Given the description of an element on the screen output the (x, y) to click on. 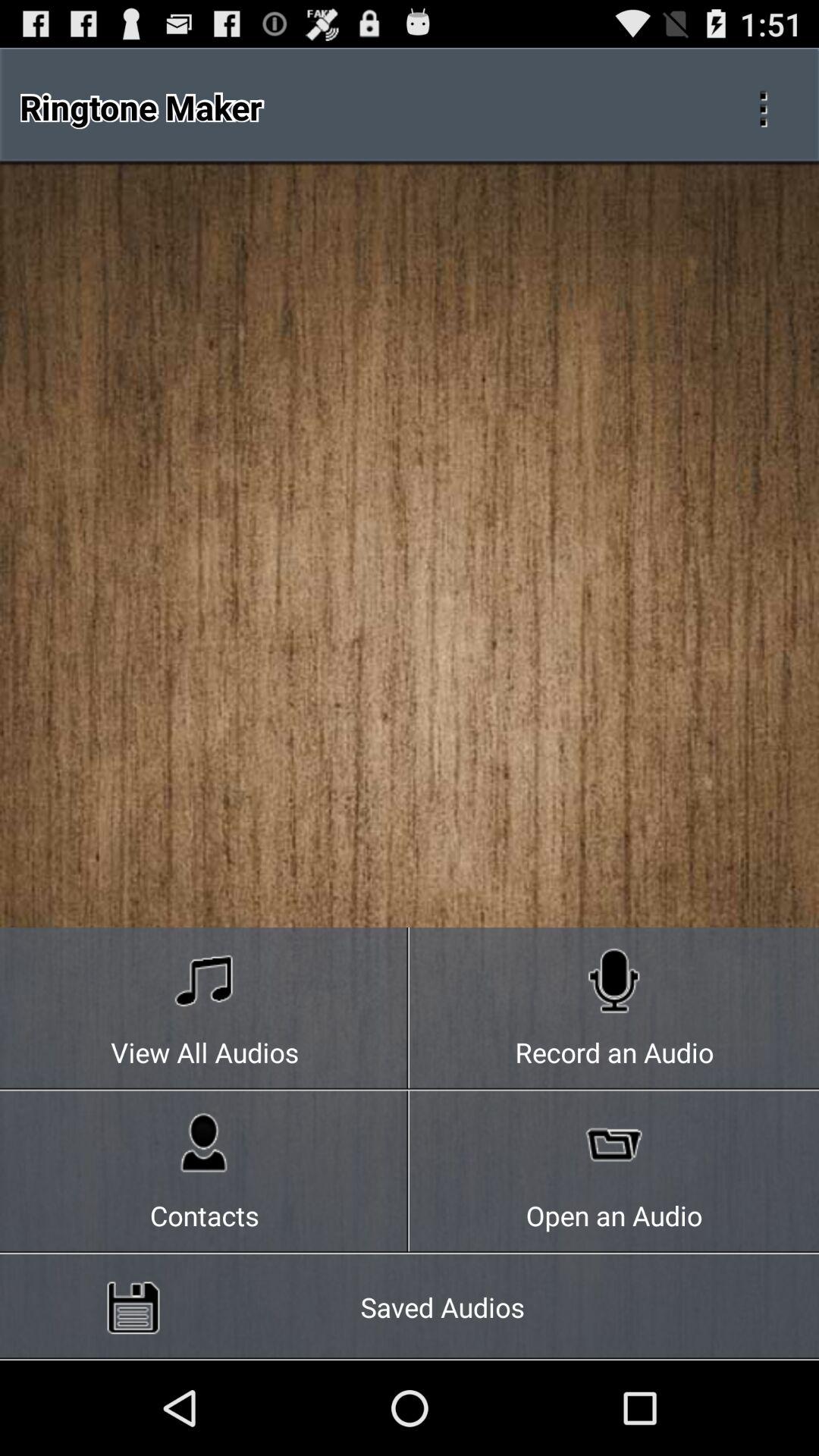
select icon at the bottom (409, 1307)
